Given the description of an element on the screen output the (x, y) to click on. 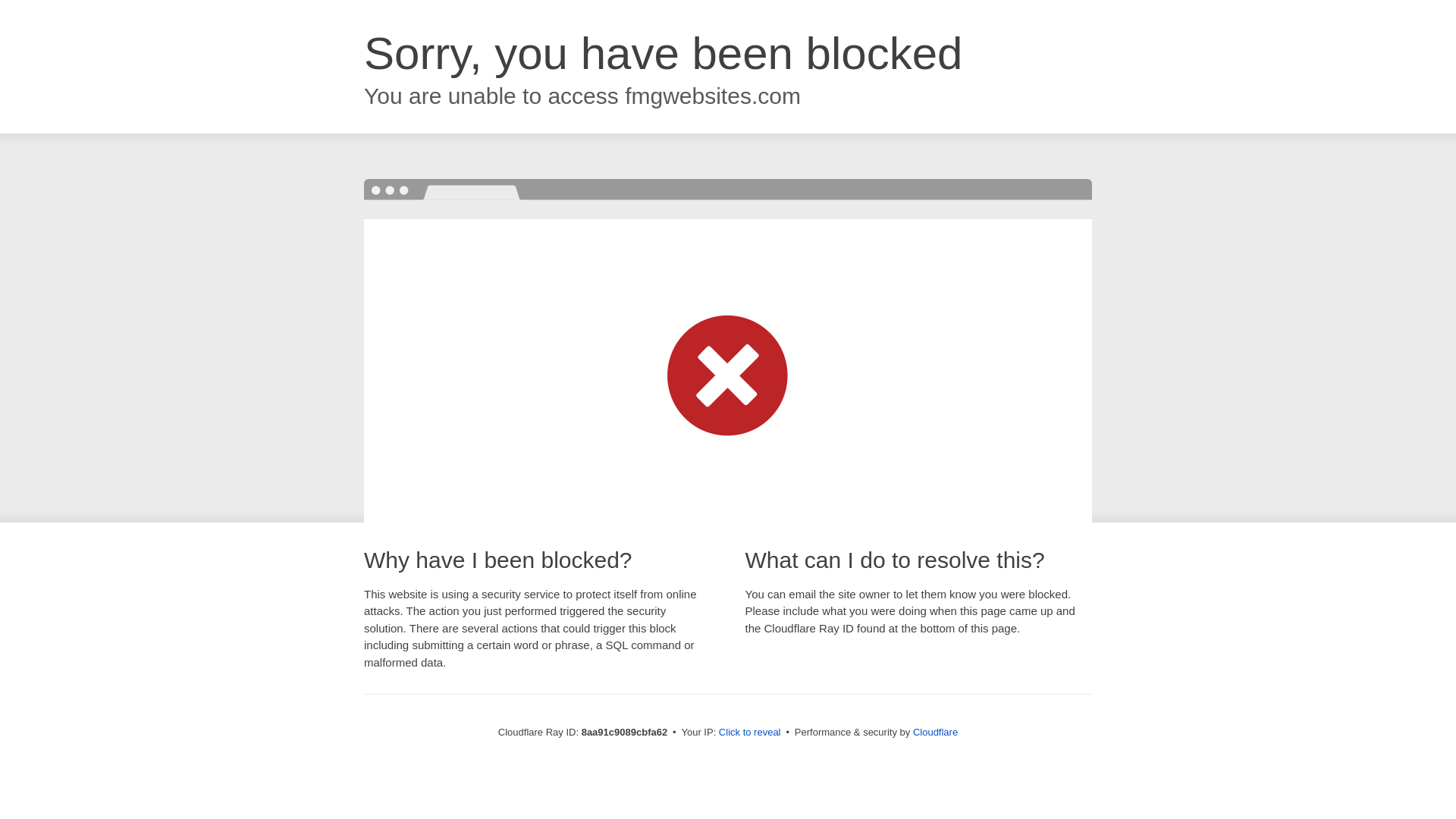
Cloudflare (935, 731)
Click to reveal (749, 732)
